Given the description of an element on the screen output the (x, y) to click on. 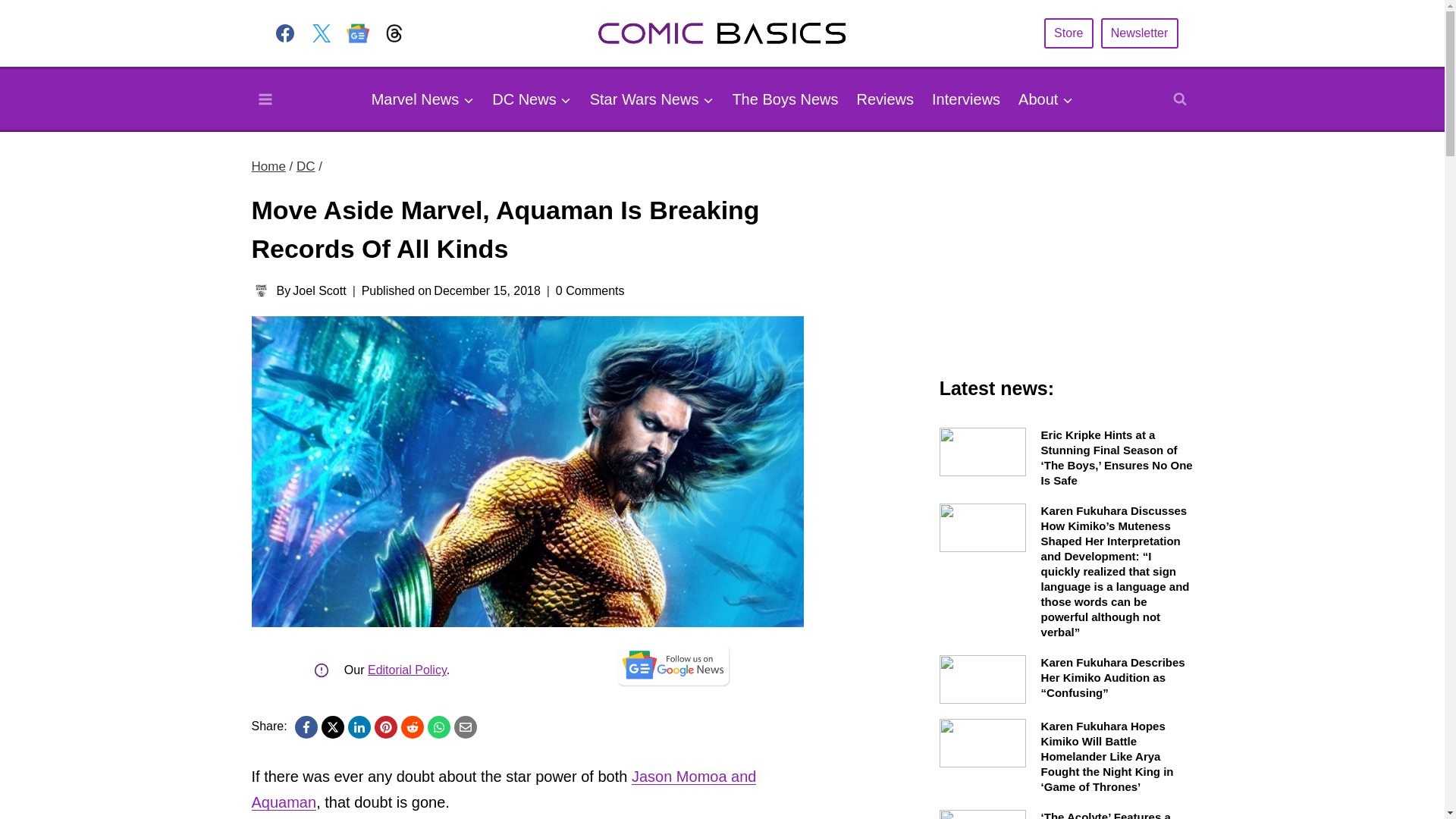
Interviews (966, 98)
Home (268, 165)
Reviews (885, 98)
DC (306, 165)
Store (1068, 32)
0 Comments (590, 290)
The Boys News (784, 98)
Marvel News (422, 98)
Newsletter (1138, 32)
About (1045, 98)
Star Wars News (651, 98)
Editorial Policy (407, 669)
Joel Scott (319, 290)
0 Comments (590, 290)
DC News (531, 98)
